Given the description of an element on the screen output the (x, y) to click on. 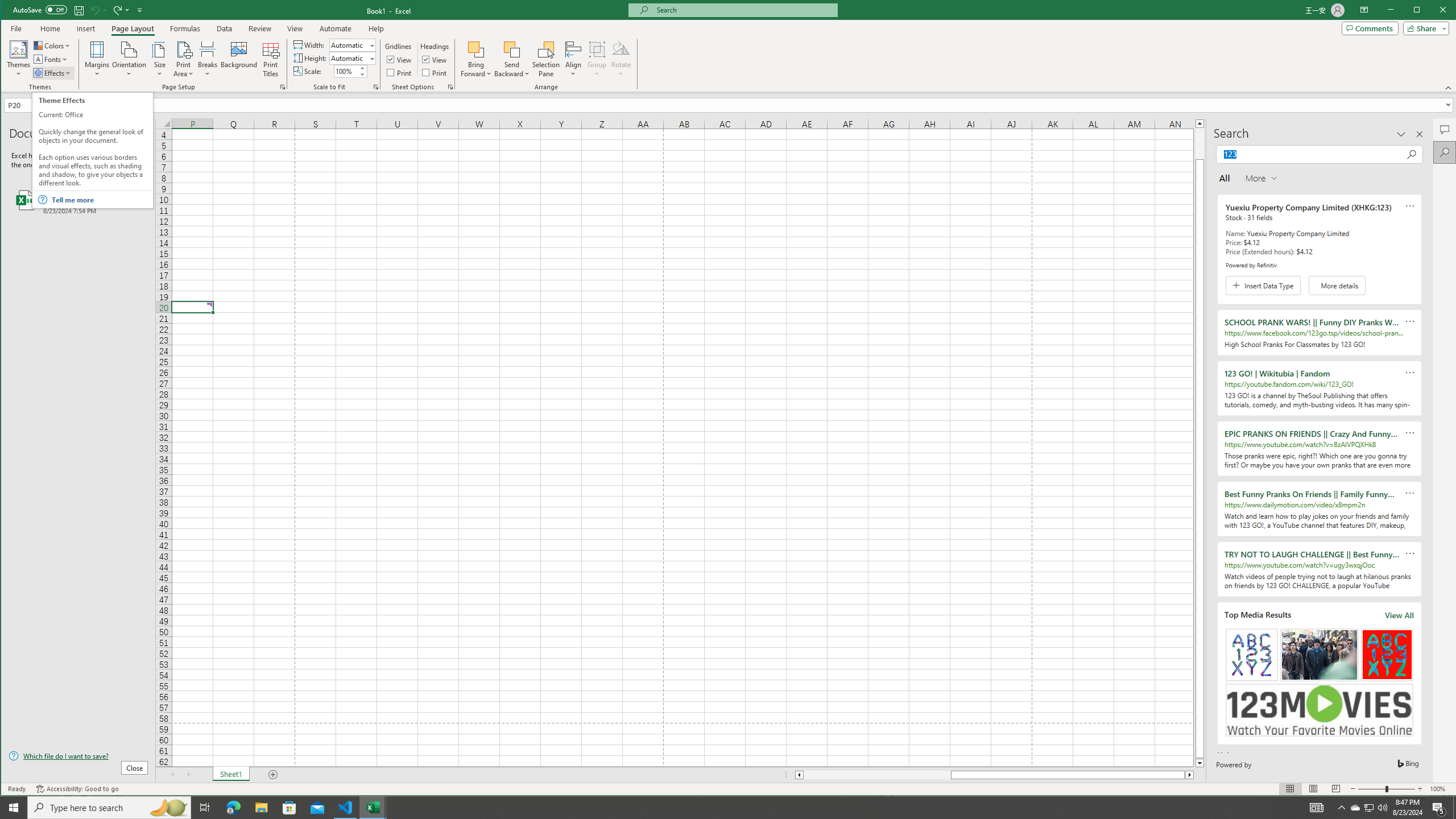
Bring Forward (476, 59)
Maximize (1432, 11)
Bring Forward (476, 48)
Group (596, 59)
More (361, 68)
